Given the description of an element on the screen output the (x, y) to click on. 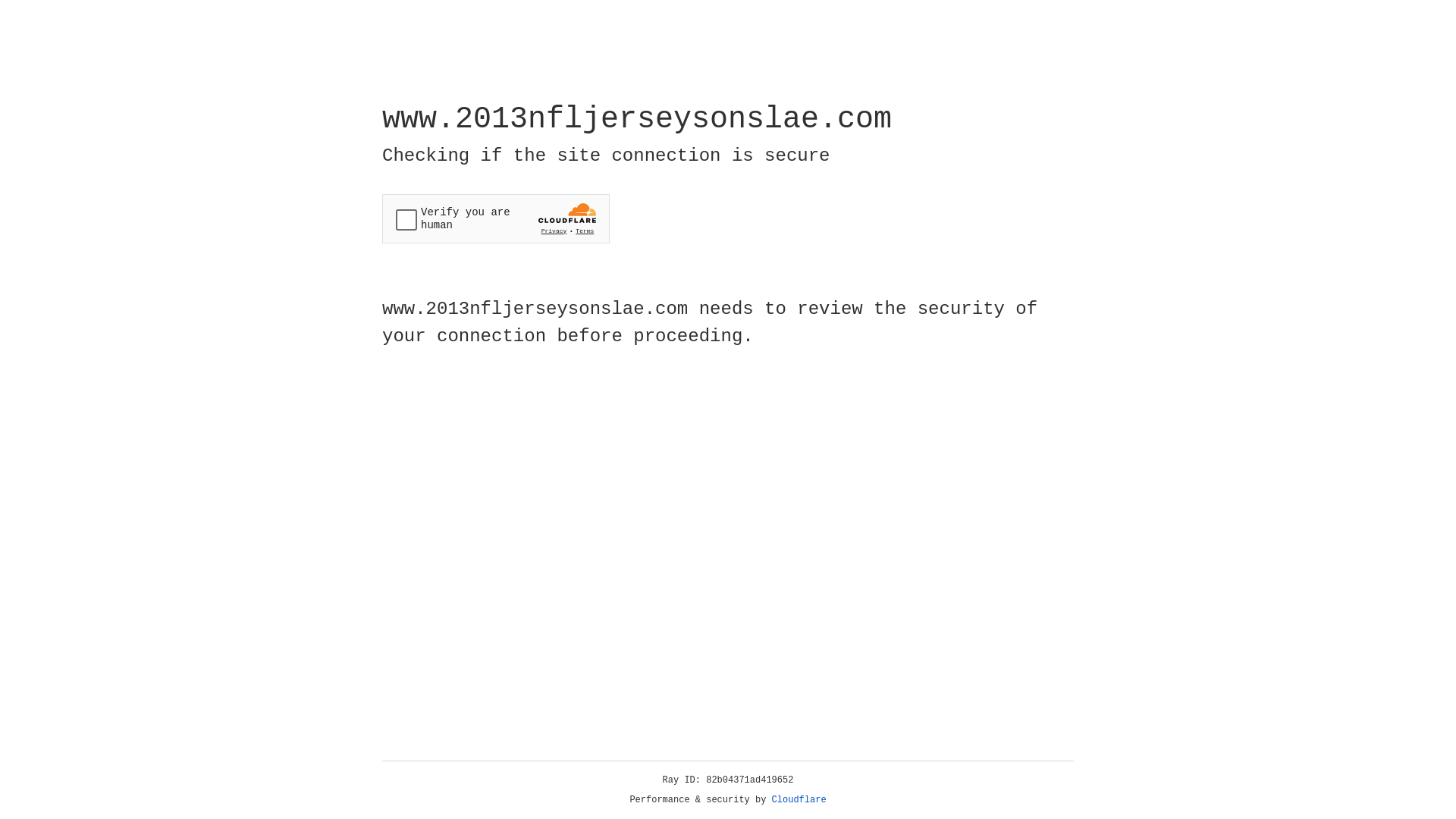
Widget containing a Cloudflare security challenge Element type: hover (495, 218)
Cloudflare Element type: text (798, 799)
